Given the description of an element on the screen output the (x, y) to click on. 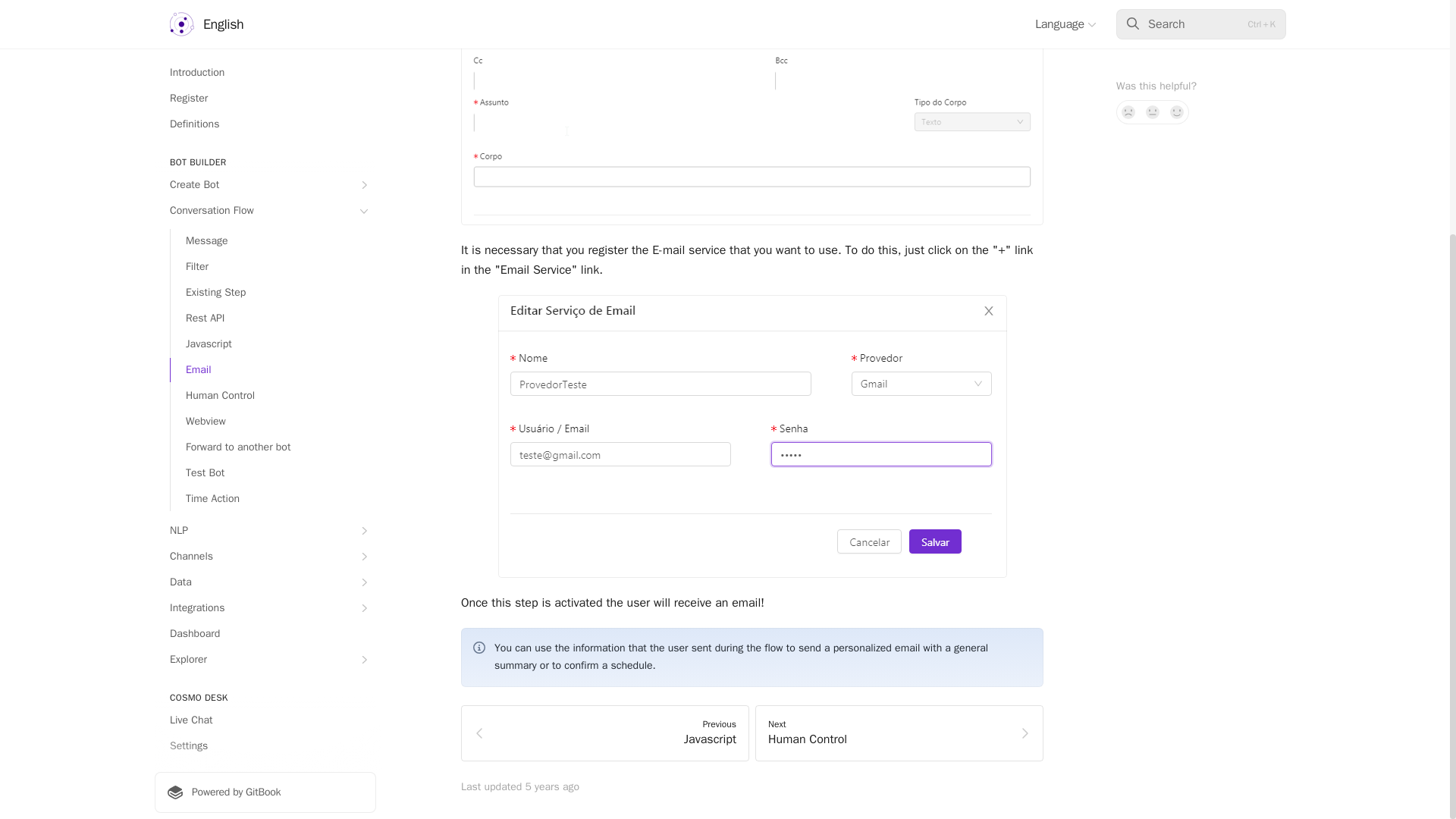
Forward to another bot (272, 119)
Webview (272, 93)
Rest API (272, 1)
Integrations (264, 280)
Time Action (272, 170)
Human Control (272, 68)
Data (264, 254)
NLP (264, 202)
Email (272, 42)
Channels (264, 228)
